Given the description of an element on the screen output the (x, y) to click on. 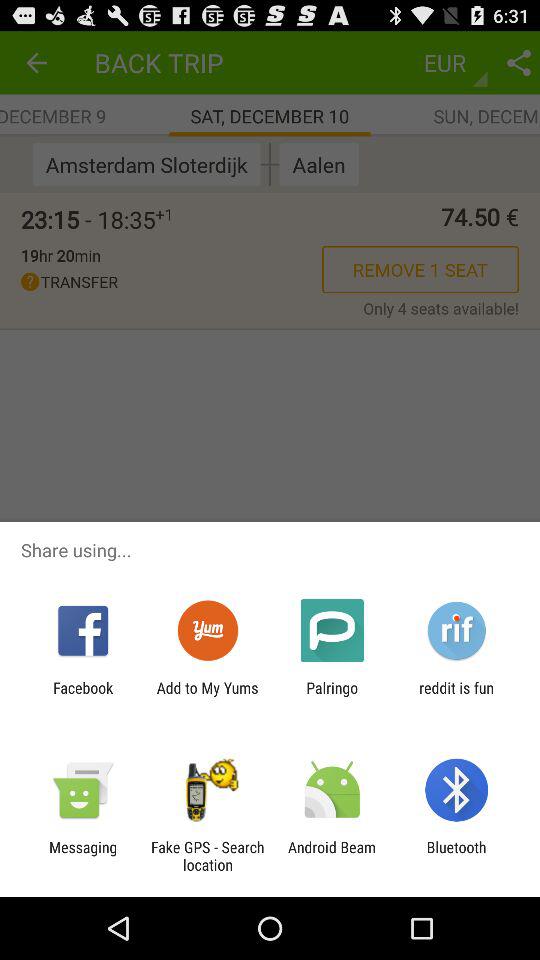
open the icon to the right of messaging item (207, 856)
